Given the description of an element on the screen output the (x, y) to click on. 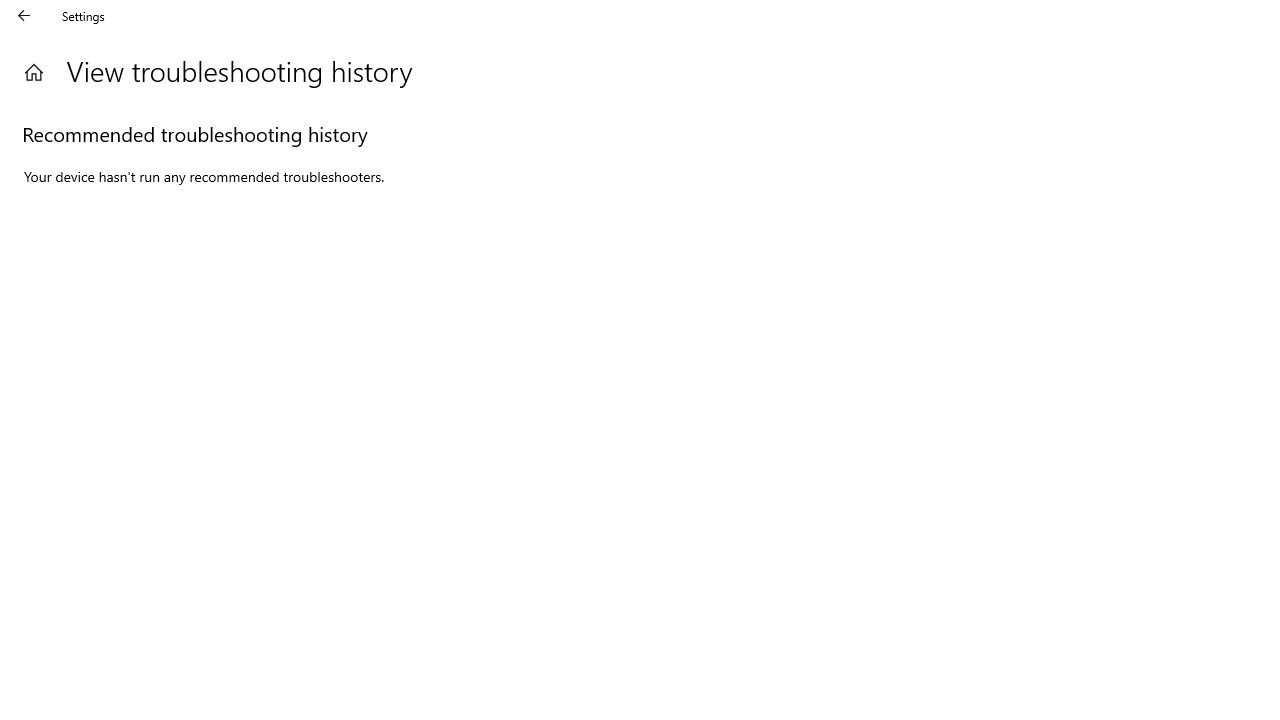
Home (33, 71)
Back (24, 15)
